Given the description of an element on the screen output the (x, y) to click on. 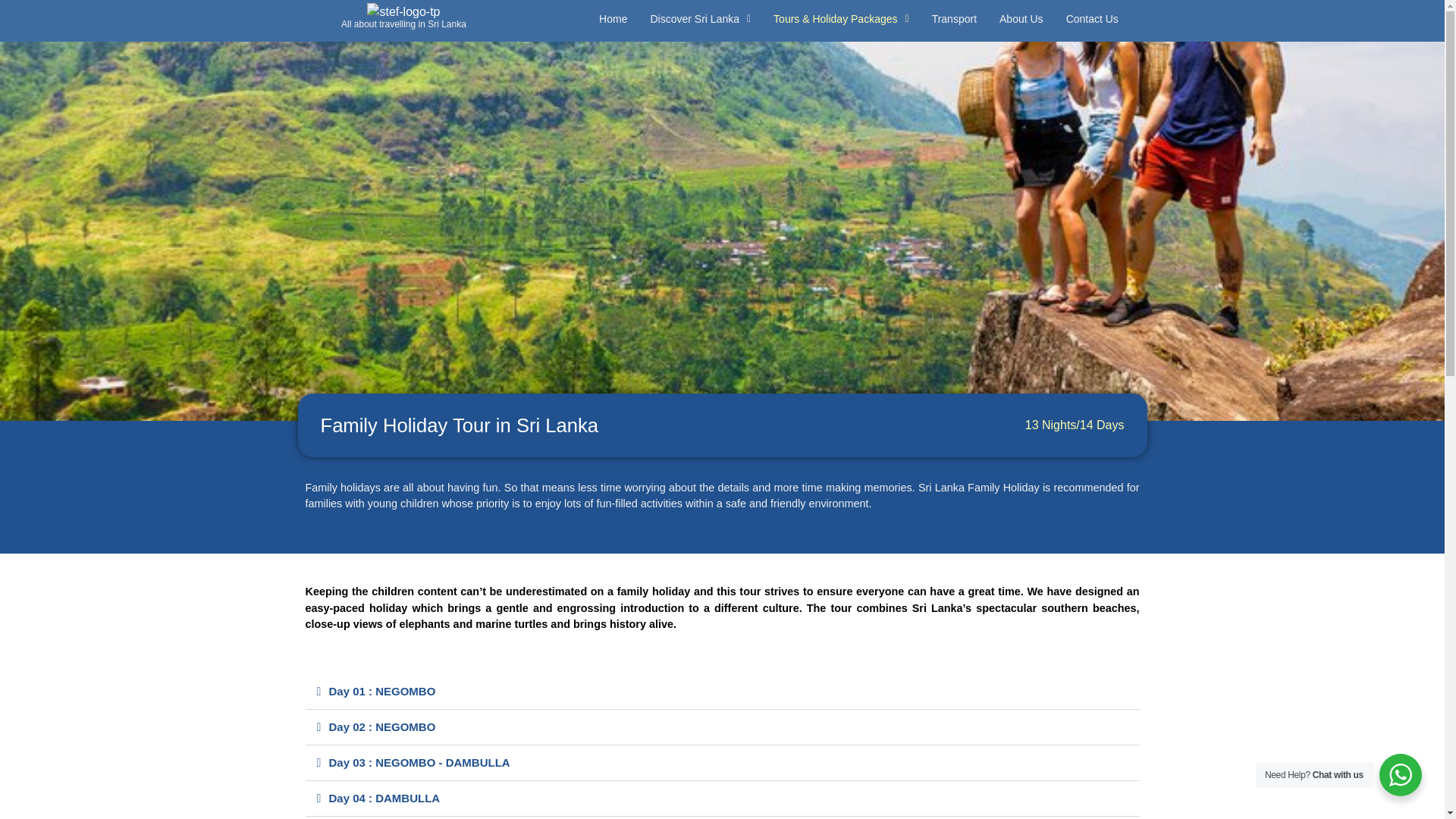
Day 02 : NEGOMBO (382, 726)
Day 03 : NEGOMBO - DAMBULLA (420, 762)
Day 04 : DAMBULLA (385, 797)
Home (613, 19)
About Us (1021, 19)
Contact Us (1091, 19)
stef-logo-tp (402, 12)
Discover Sri Lanka (700, 19)
Day 01 : NEGOMBO (382, 690)
Transport (954, 19)
